Given the description of an element on the screen output the (x, y) to click on. 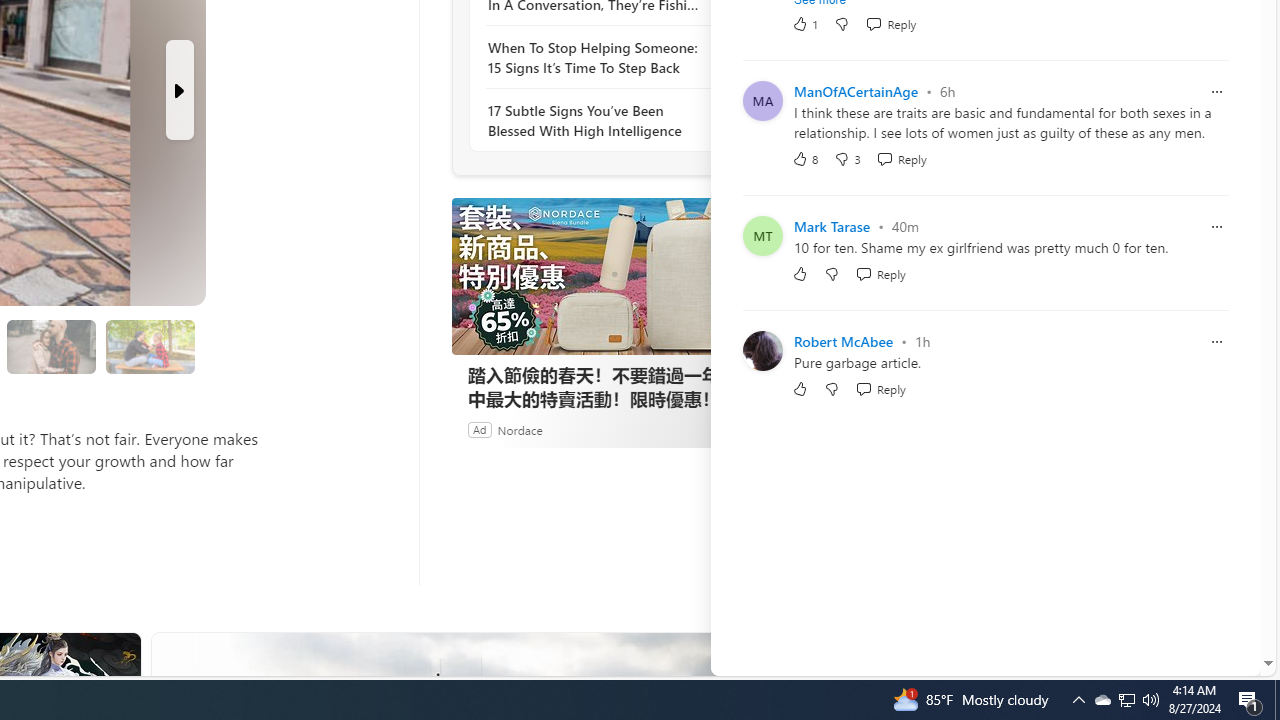
Class: progress (149, 343)
Like (799, 388)
1 Like (804, 23)
ManOfACertainAge (856, 91)
Profile Picture (762, 349)
Mark Tarase (831, 226)
Ad (479, 429)
Dislike (831, 388)
